Given the description of an element on the screen output the (x, y) to click on. 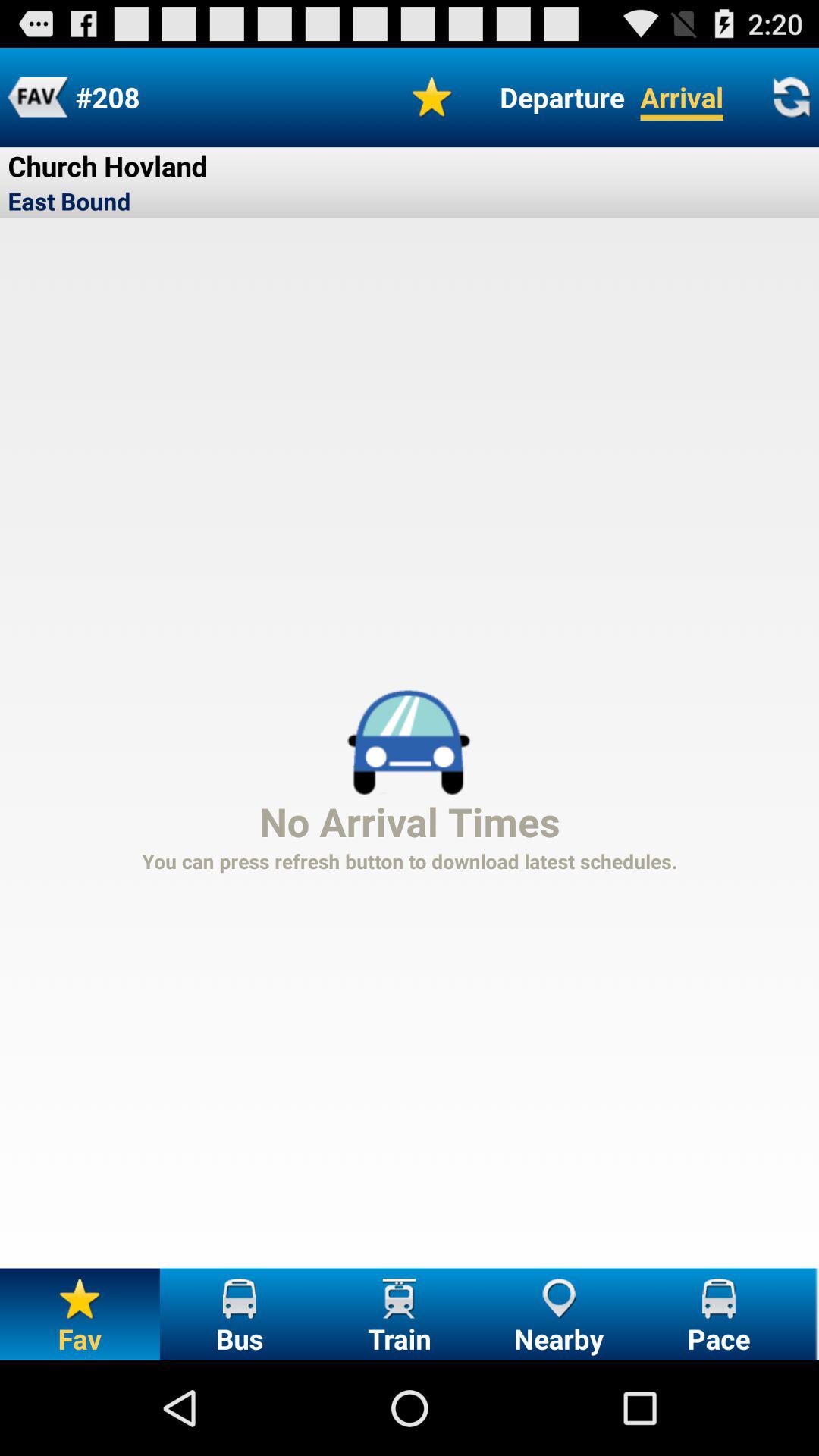
choose the app next to the #208 app (37, 97)
